Given the description of an element on the screen output the (x, y) to click on. 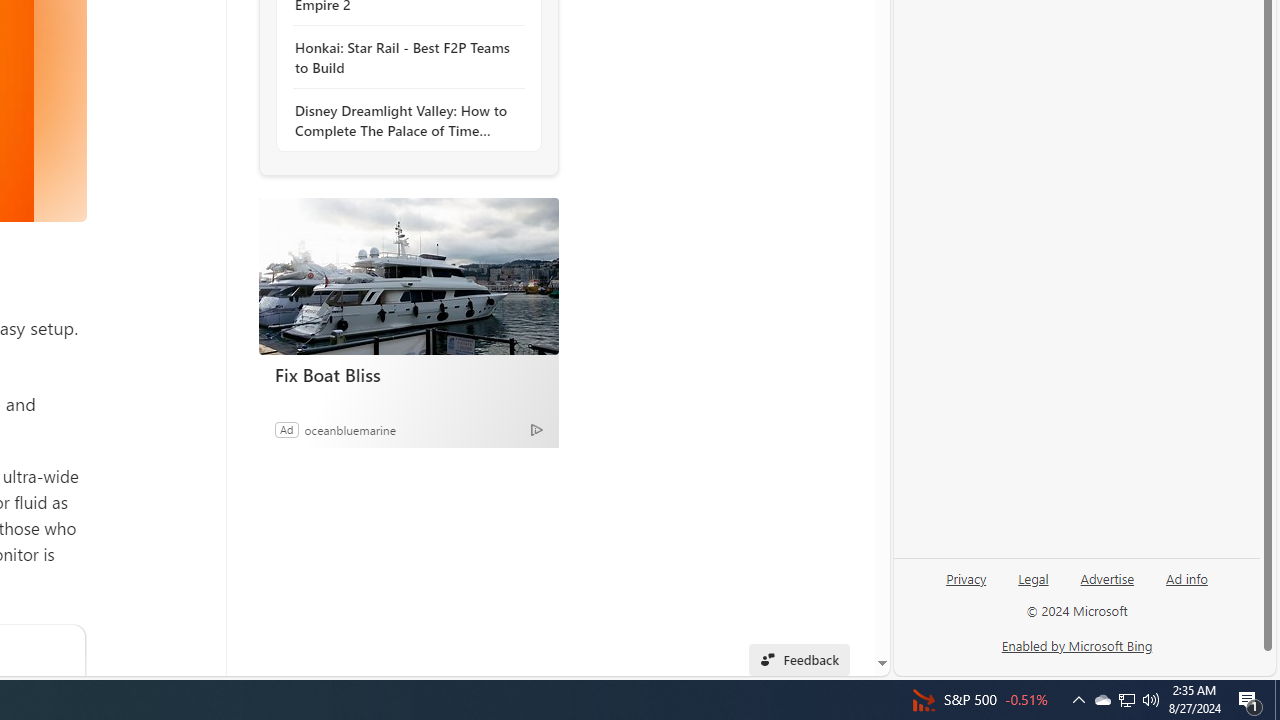
Fix Boat Bliss (407, 374)
Ad info (1186, 586)
